Given the description of an element on the screen output the (x, y) to click on. 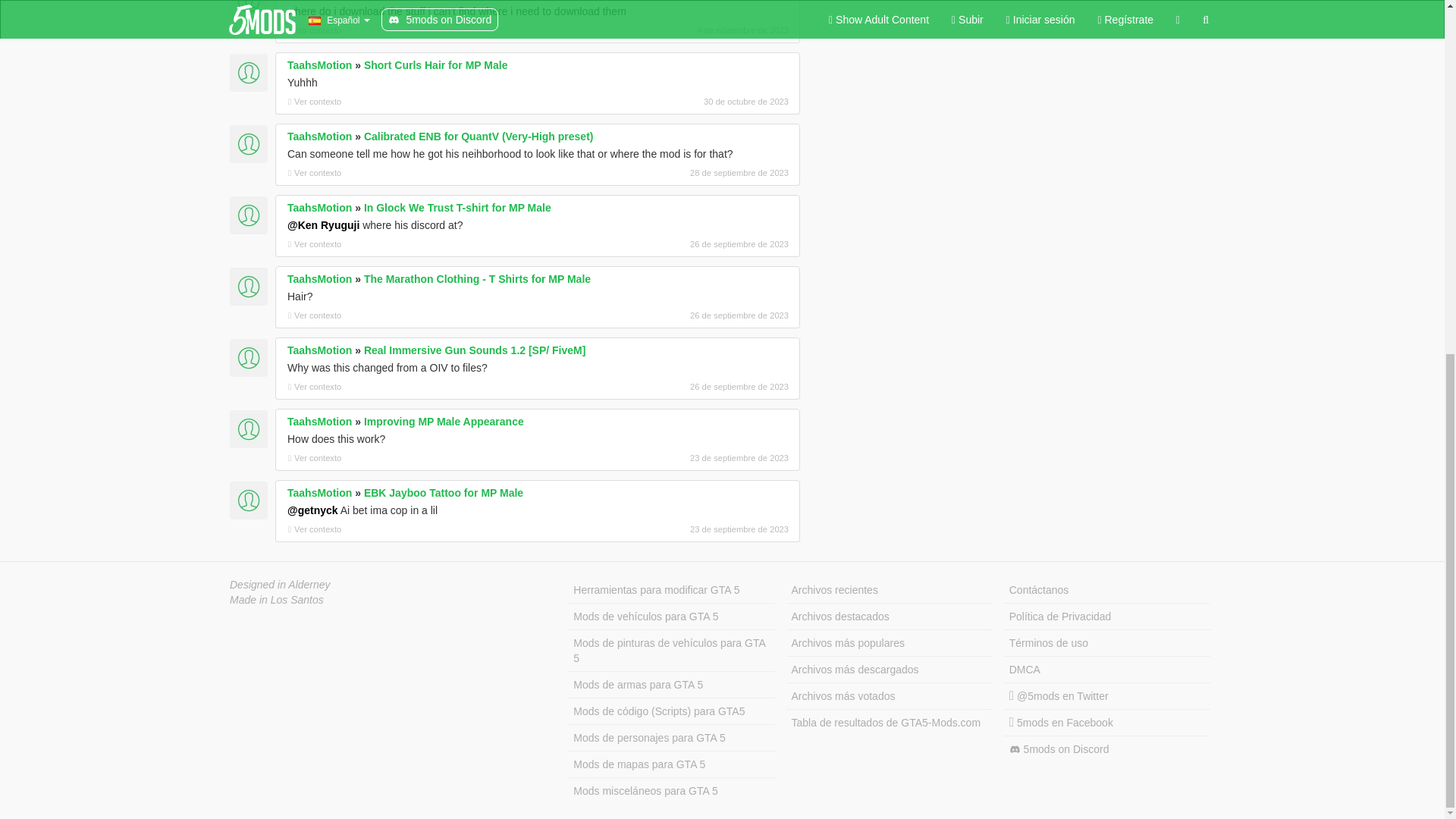
5mods en Facebook (1106, 723)
5mods on Discord (1106, 749)
